Given the description of an element on the screen output the (x, y) to click on. 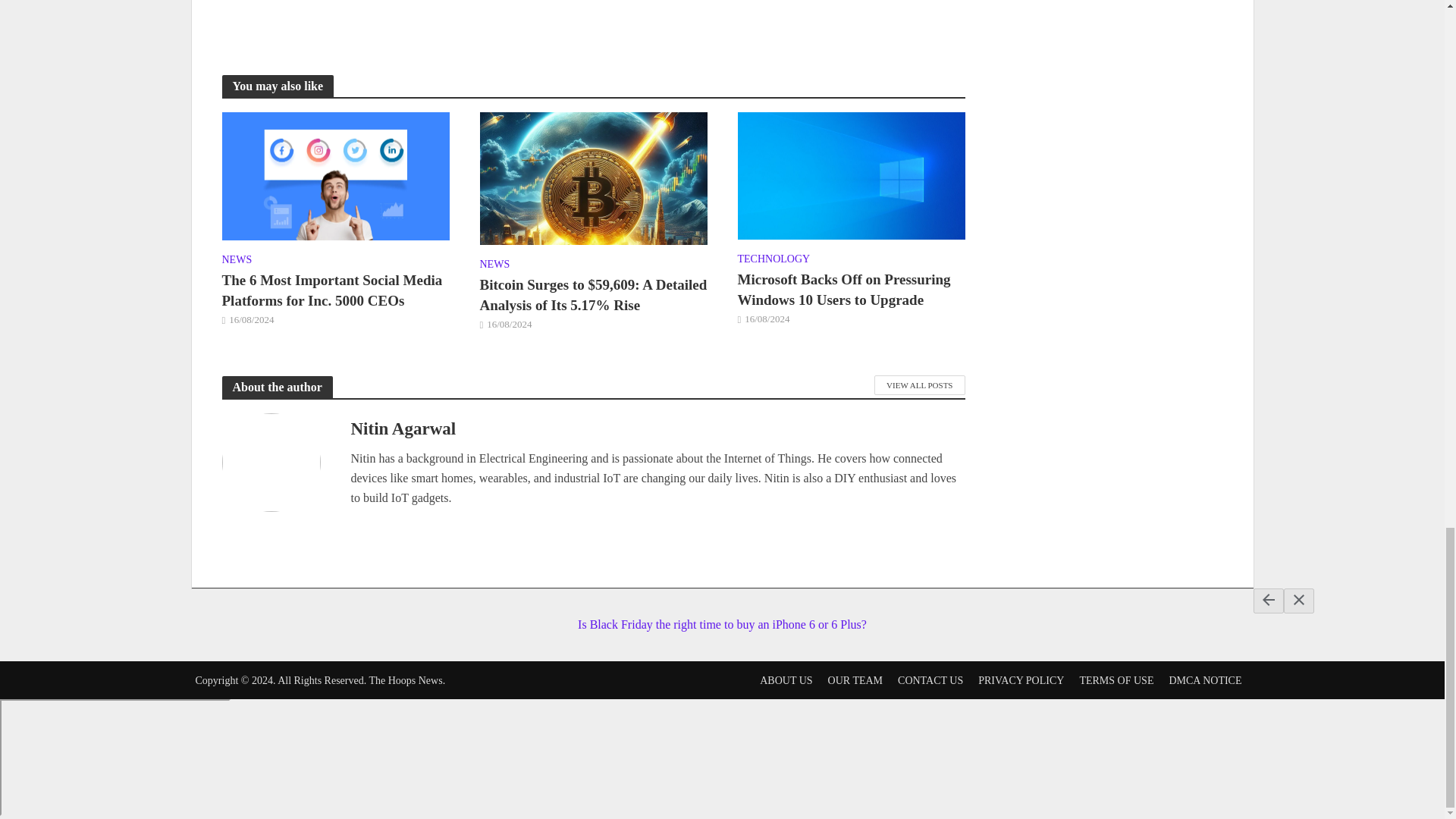
NEWS (494, 266)
NEWS (236, 261)
TECHNOLOGY (772, 260)
VIEW ALL POSTS (919, 384)
